Given the description of an element on the screen output the (x, y) to click on. 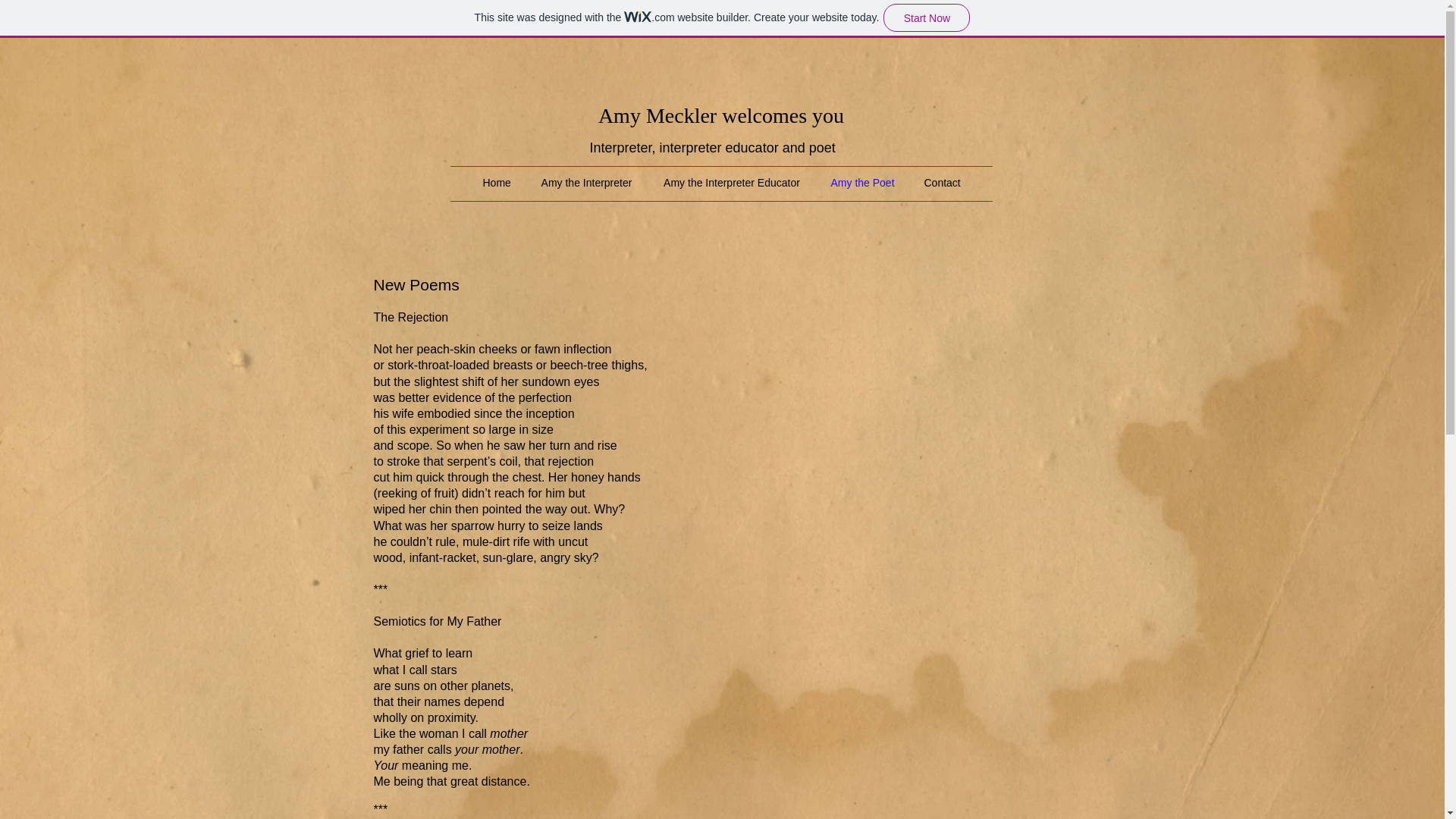
Amy the Interpreter Educator (731, 182)
Contact (941, 182)
Amy the Poet (861, 182)
Amy the Interpreter (585, 182)
Home (495, 182)
